Given the description of an element on the screen output the (x, y) to click on. 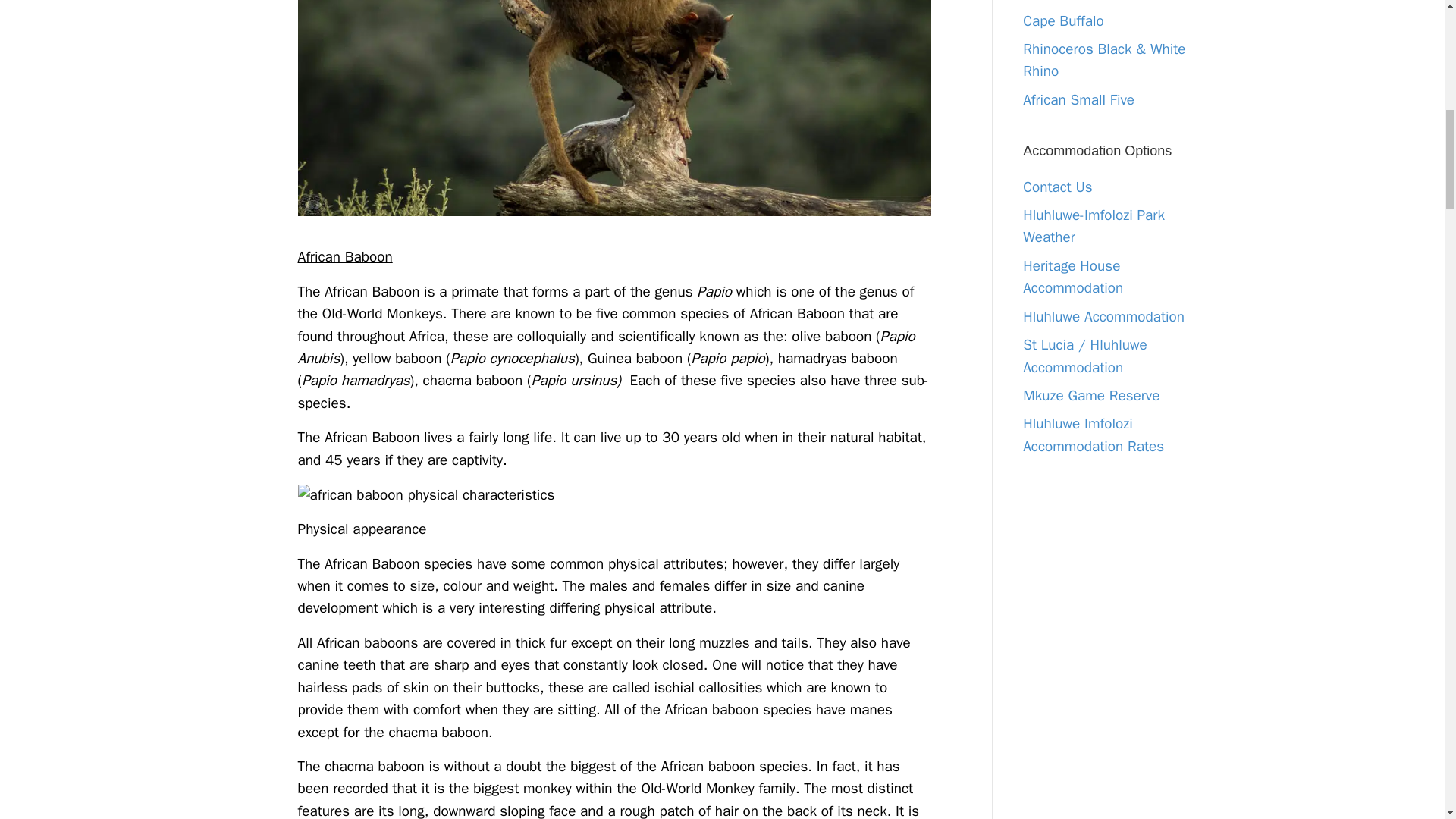
African Baboon 1 (614, 495)
